Given the description of an element on the screen output the (x, y) to click on. 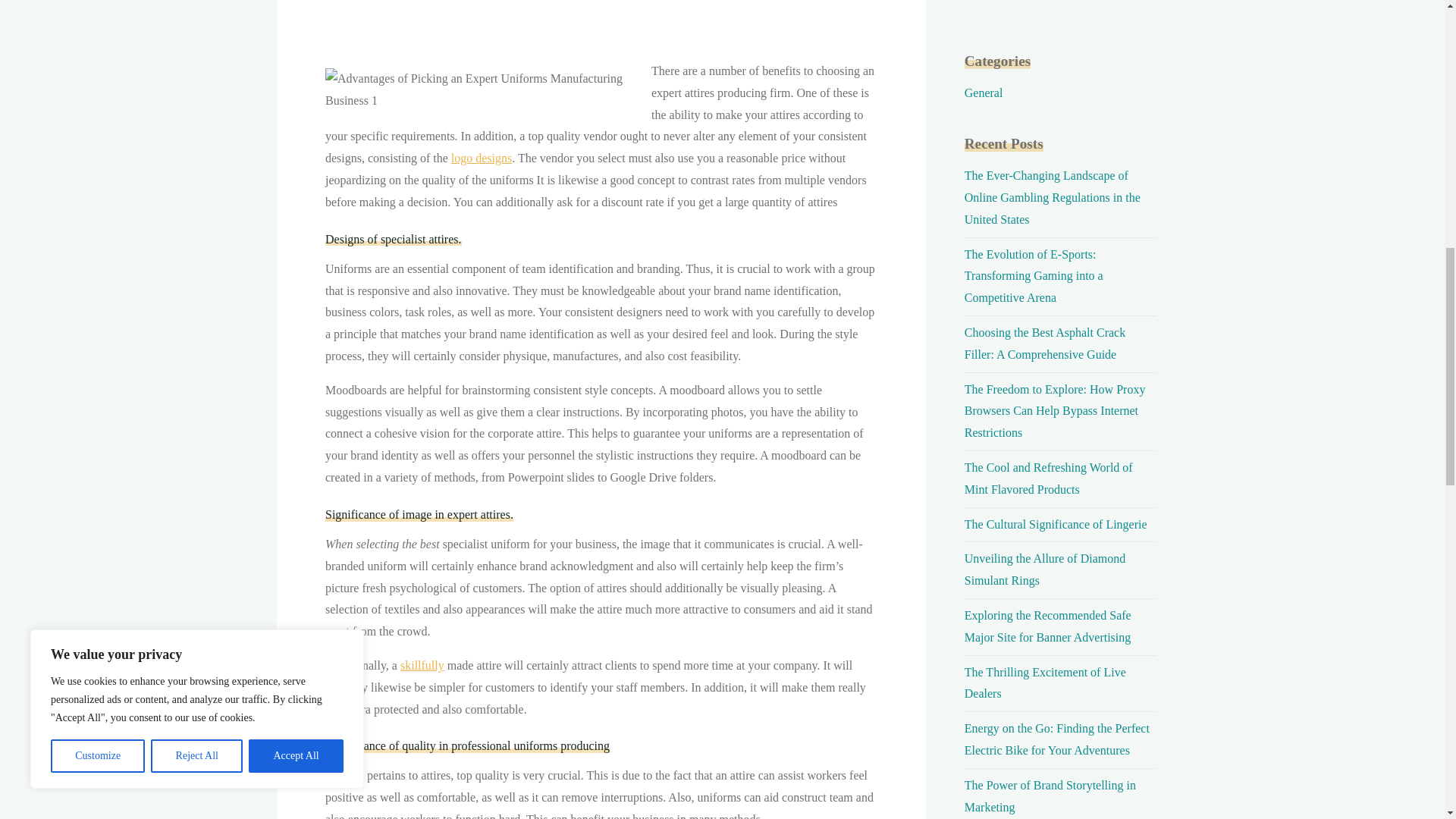
skillfully (421, 665)
General (983, 92)
logo designs (480, 157)
